Given the description of an element on the screen output the (x, y) to click on. 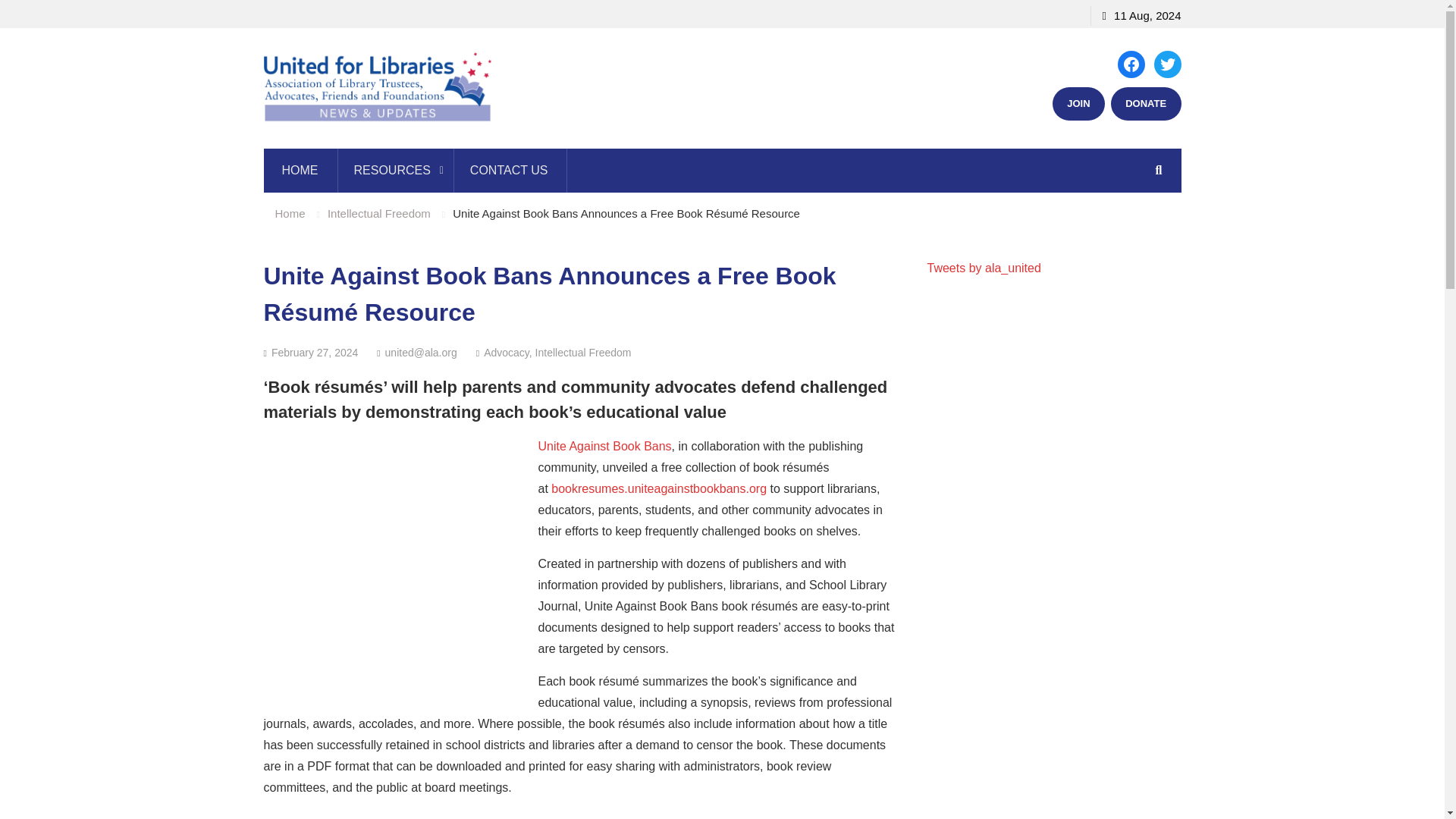
Advocacy (506, 352)
Intellectual Freedom (378, 213)
Home (289, 213)
Facebook (1131, 63)
Intellectual Freedom (583, 352)
bookresumes.uniteagainstbookbans.org (659, 488)
CONTACT US (509, 170)
RESOURCES (394, 170)
DONATE (1145, 103)
HOME (299, 170)
